Given the description of an element on the screen output the (x, y) to click on. 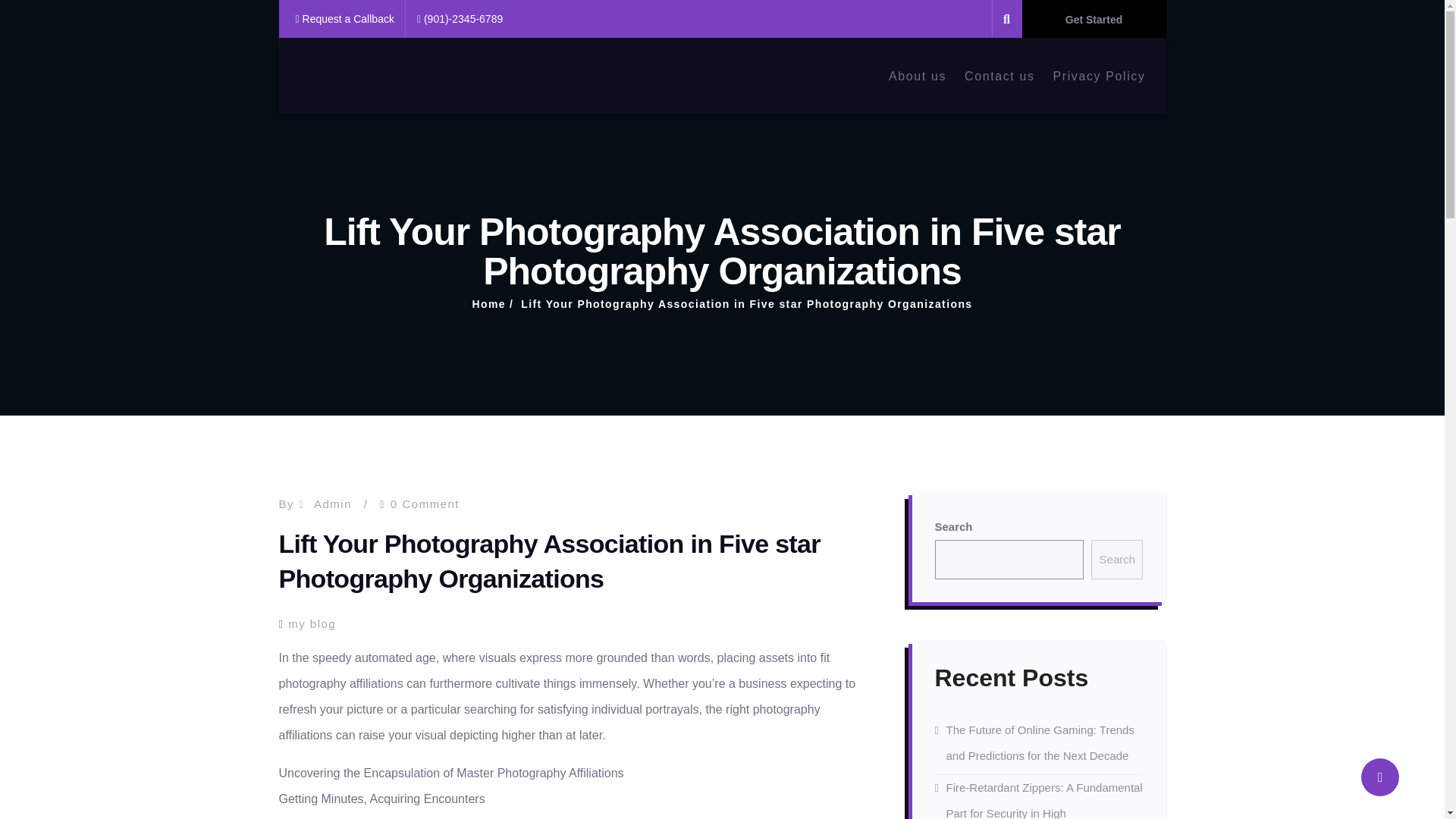
Search (1116, 559)
Admin (333, 503)
Contact us (998, 74)
my blog (312, 623)
Privacy Policy (1098, 74)
Home (488, 304)
Get Started (1094, 18)
